Given the description of an element on the screen output the (x, y) to click on. 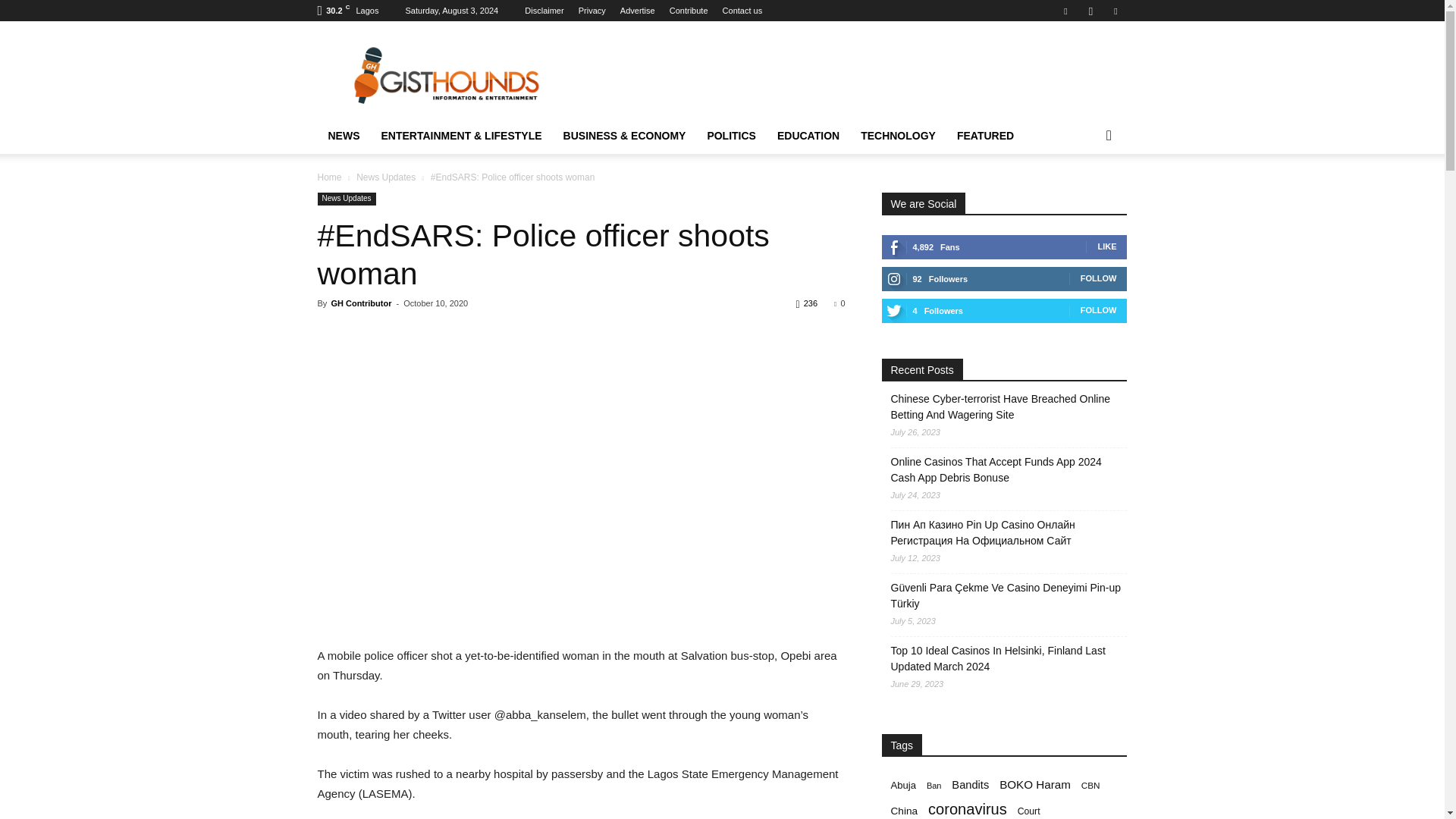
FEATURED (985, 135)
Disclaimer (543, 10)
EDUCATION (808, 135)
View all posts in News Updates (385, 176)
Twitter (1114, 10)
Privacy (591, 10)
Instagram (1090, 10)
Contribute (688, 10)
Contact us (742, 10)
Facebook (1065, 10)
TECHNOLOGY (898, 135)
Advertise (637, 10)
POLITICS (731, 135)
NEWS (343, 135)
